Given the description of an element on the screen output the (x, y) to click on. 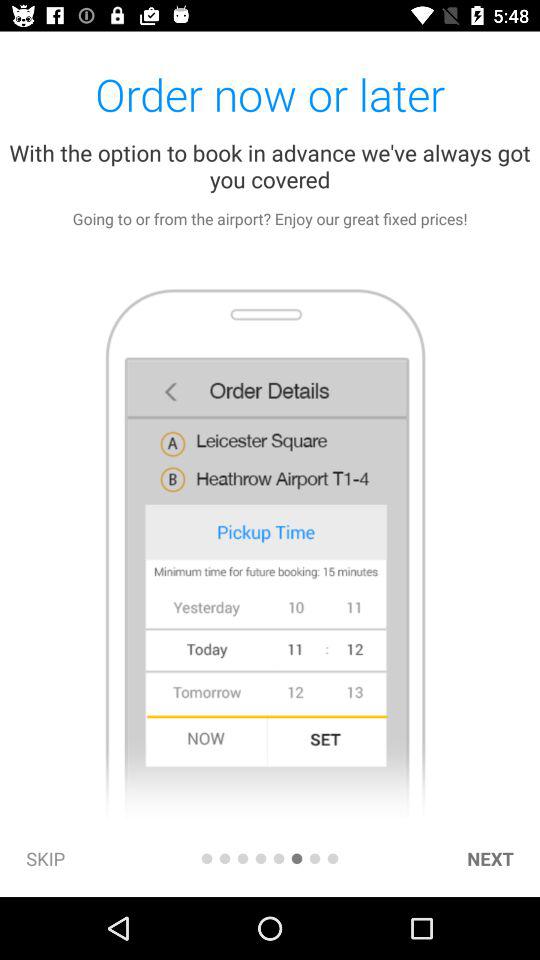
press icon to the left of next item (332, 858)
